Given the description of an element on the screen output the (x, y) to click on. 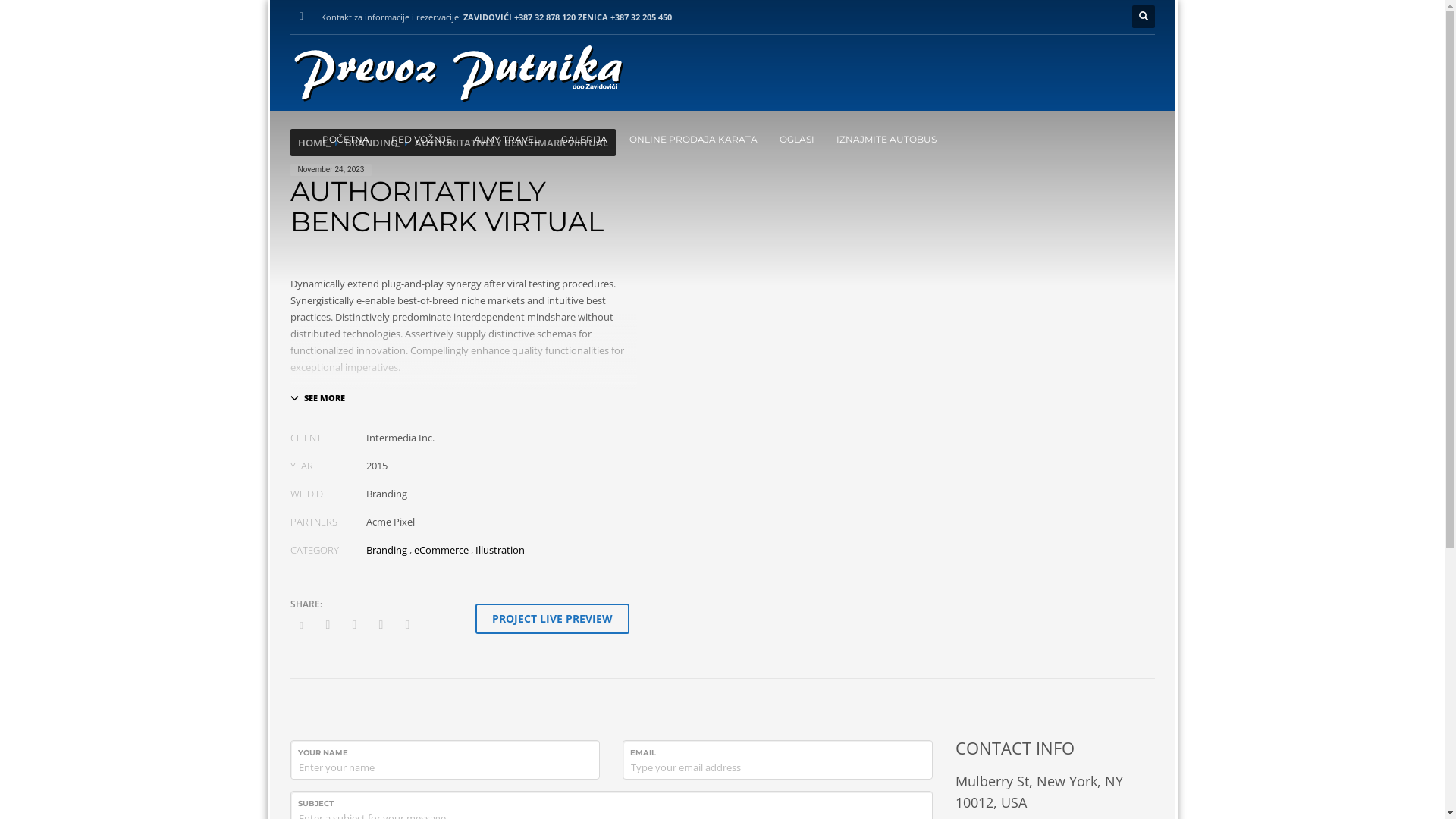
IZNAJMITE AUTOBUS Element type: text (885, 139)
Prevoz Putnika Zavidovici Element type: hover (460, 76)
SHARE ON TWITTER Element type: hover (300, 623)
SHARE ON MAIL Element type: hover (406, 623)
ALMY TRAVEL Element type: text (505, 139)
Branding Element type: text (385, 549)
Facebook Element type: hover (300, 16)
SHARE ON PINTEREST Element type: hover (381, 623)
SHARE ON GPLUS Element type: hover (353, 623)
SHARE ON FACEBOOK Element type: hover (327, 623)
PROJECT LIVE PREVIEW Element type: text (552, 618)
ZENICA +387 32 205 450 Element type: text (624, 16)
OGLASI Element type: text (796, 139)
GALERIJA Element type: text (584, 139)
ONLINE PRODAJA KARATA Element type: text (693, 139)
eCommerce Element type: text (441, 549)
BRANDING Element type: text (370, 142)
HOME Element type: text (311, 142)
Illustration Element type: text (499, 549)
